Given the description of an element on the screen output the (x, y) to click on. 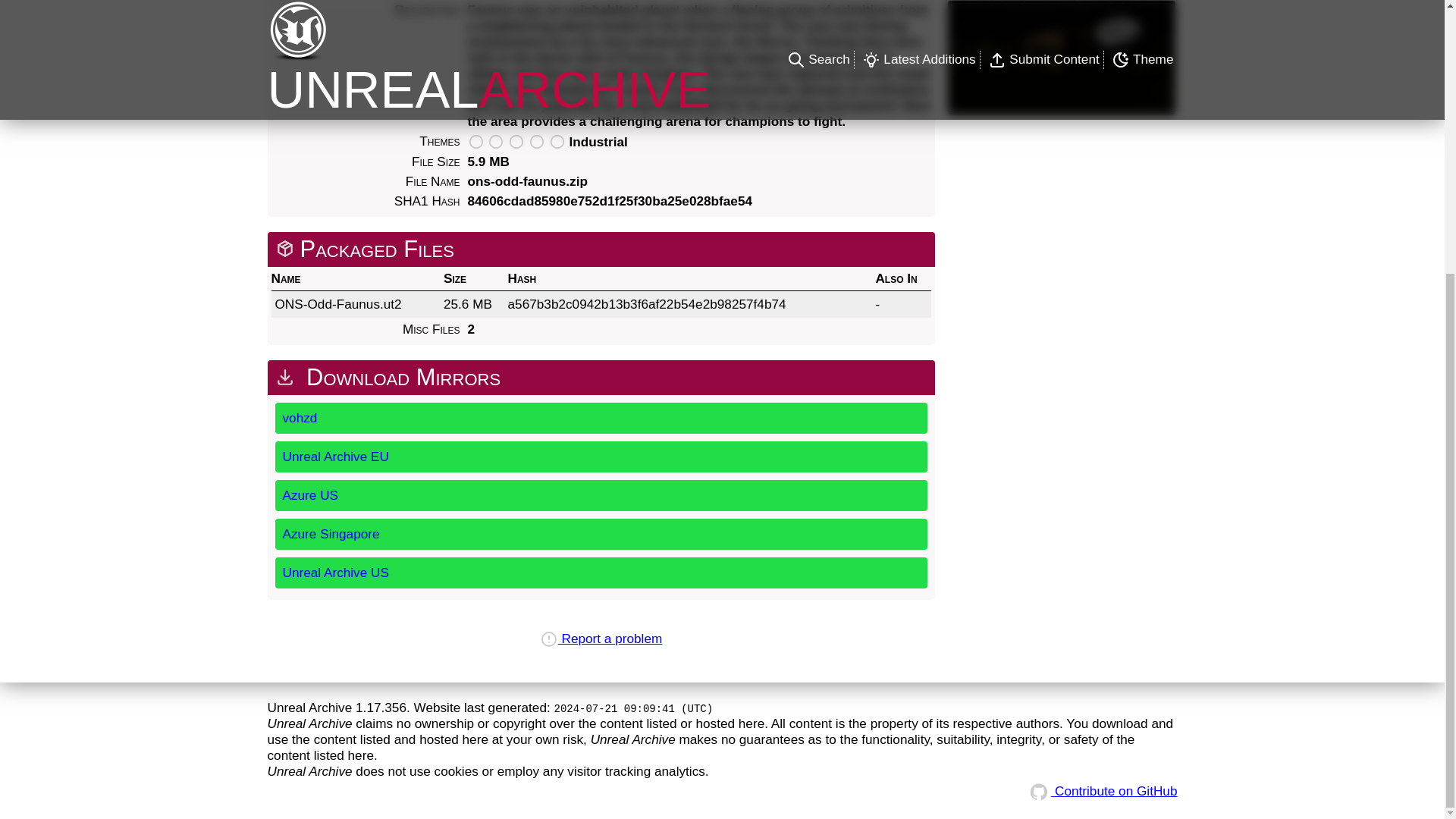
Contribute on GitHub (1101, 790)
Report a problem (601, 638)
Azure US (600, 495)
Unreal Archive EU (600, 456)
Azure Singapore (600, 533)
vohzd (600, 418)
Unreal Archive US (600, 572)
